Given the description of an element on the screen output the (x, y) to click on. 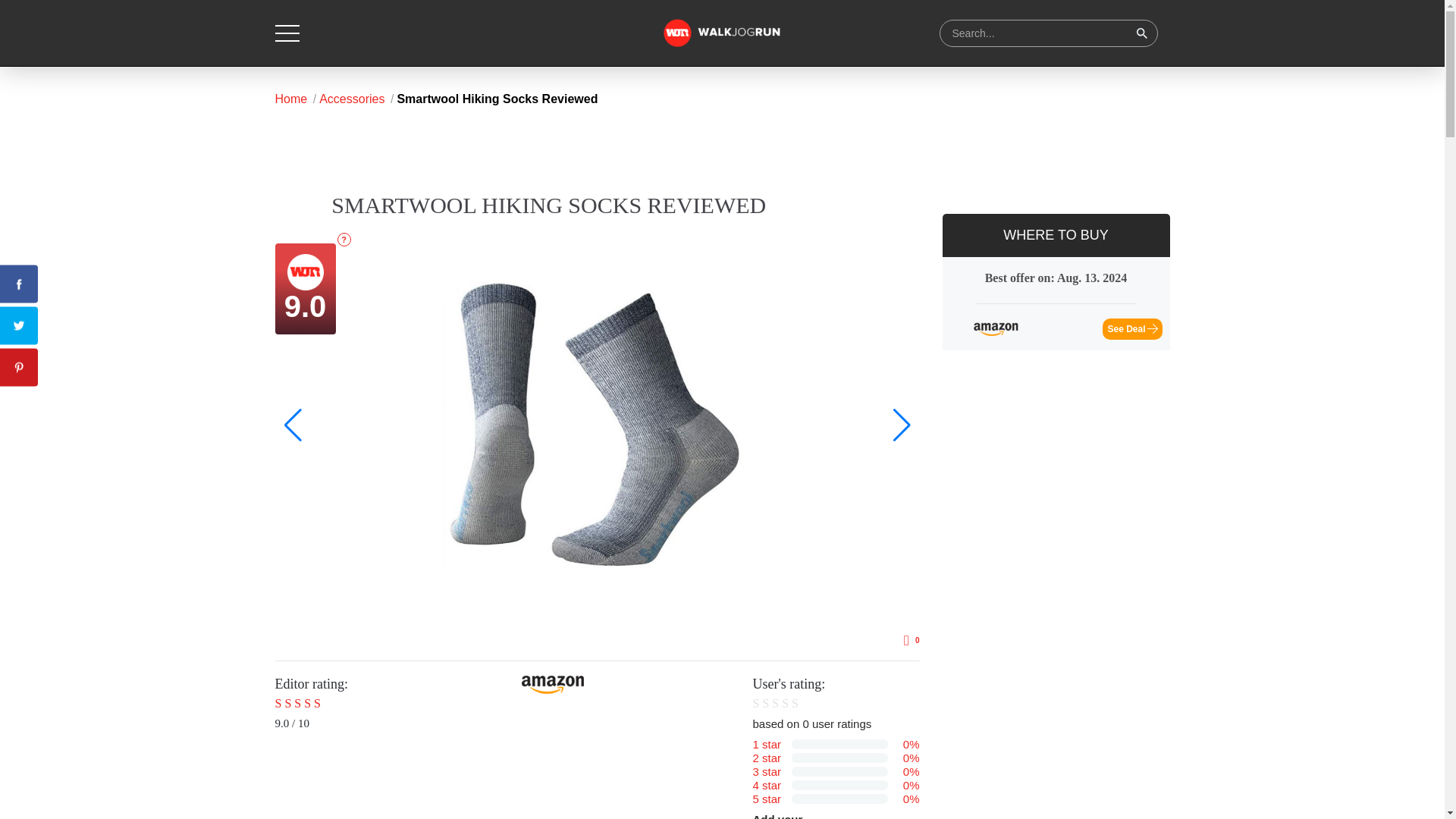
WalkJogRun (722, 33)
Rated 9.0 out of 10 (313, 703)
Accessories (357, 98)
Home (1055, 301)
